Given the description of an element on the screen output the (x, y) to click on. 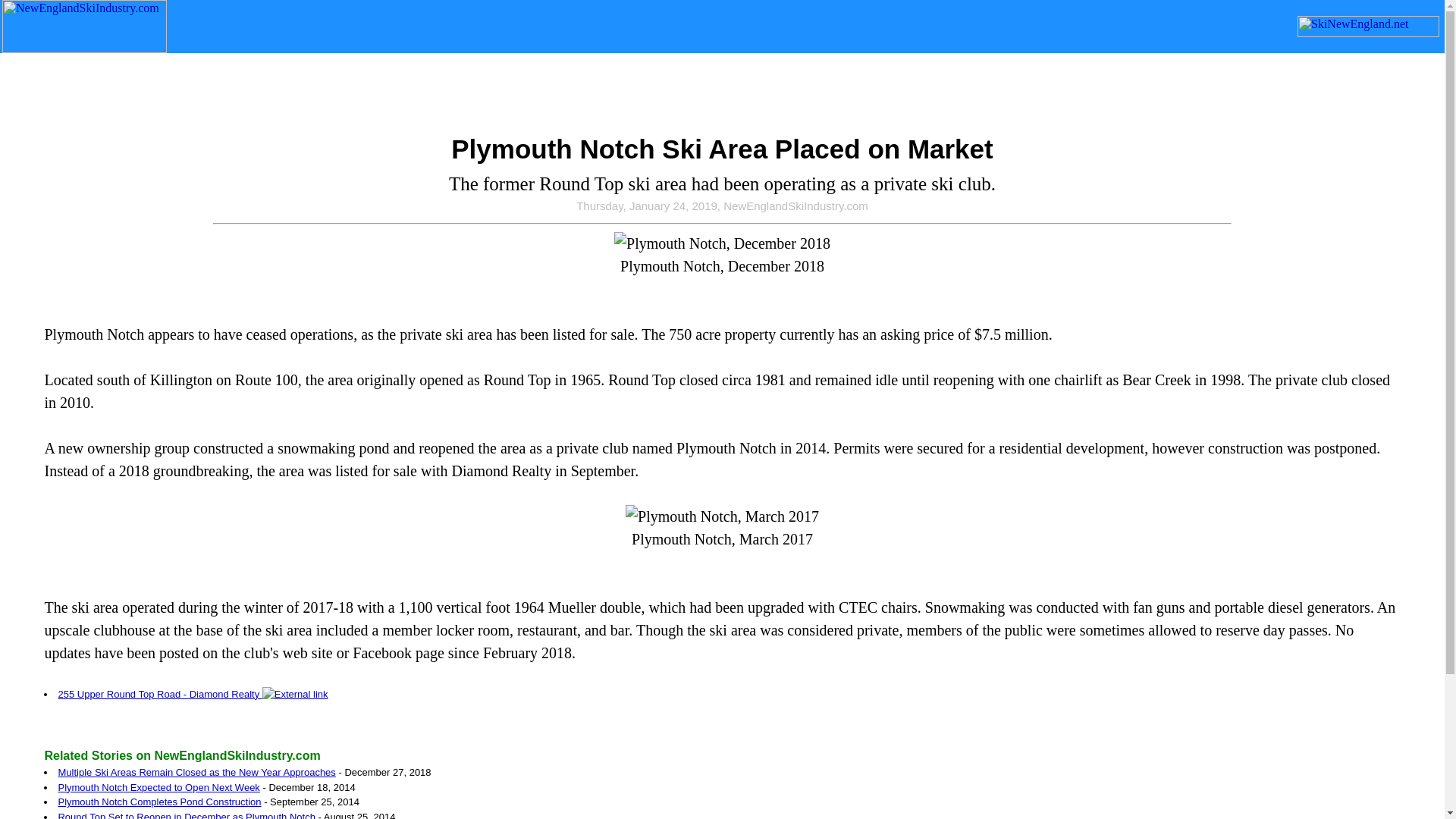
Plymouth Notch Completes Pond Construction (159, 801)
Plymouth Notch Expected to Open Next Week (158, 786)
255 Upper Round Top Road - Diamond Realty (192, 694)
Multiple Ski Areas Remain Closed as the New Year Approaches (196, 772)
Round Top Set to Reopen in December as Plymouth Notch (186, 815)
